Given the description of an element on the screen output the (x, y) to click on. 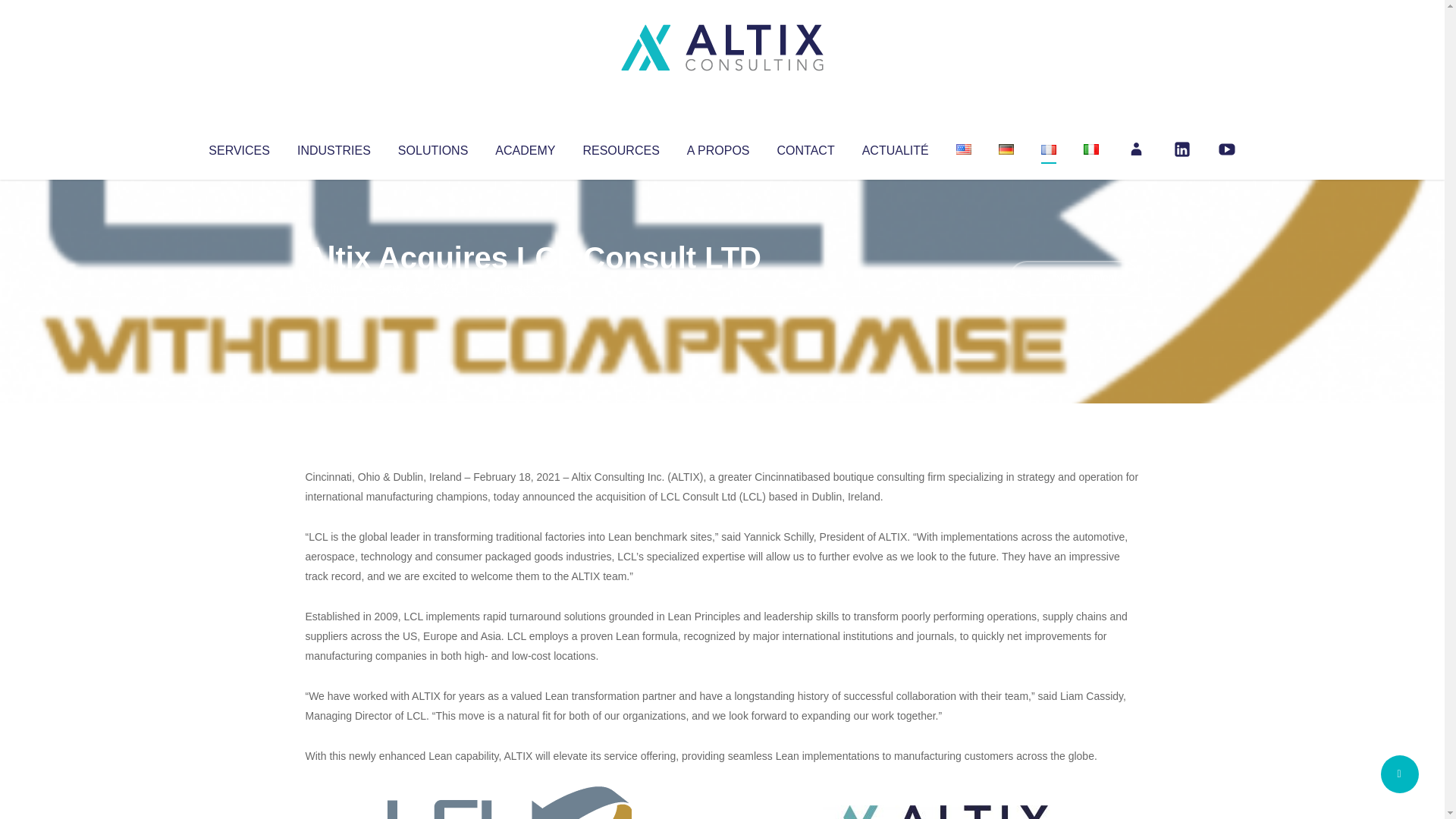
RESOURCES (620, 146)
Altix (333, 287)
Uncategorized (530, 287)
SERVICES (238, 146)
SOLUTIONS (432, 146)
Articles par Altix (333, 287)
ACADEMY (524, 146)
A PROPOS (718, 146)
No Comments (1073, 278)
INDUSTRIES (334, 146)
